Given the description of an element on the screen output the (x, y) to click on. 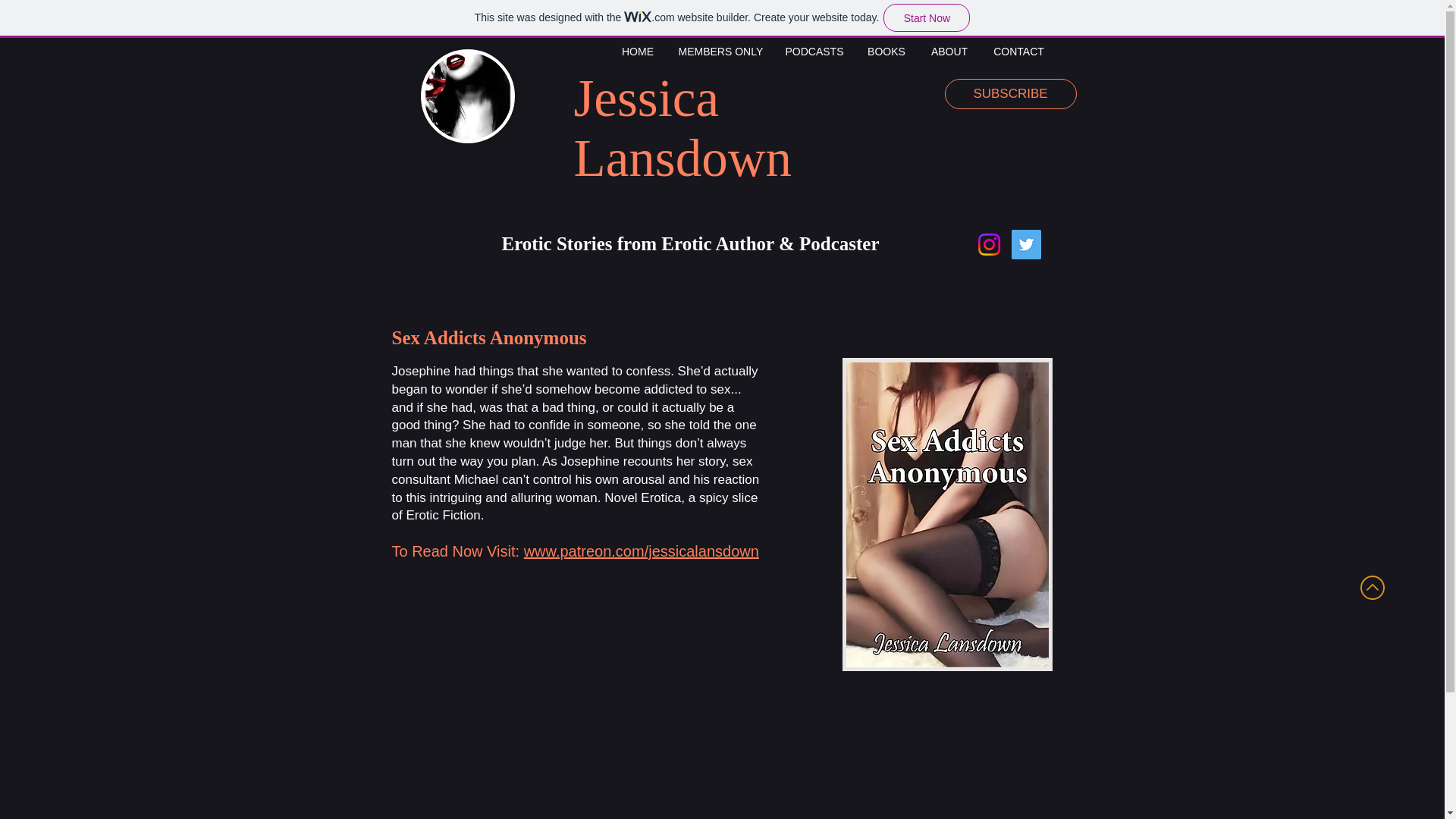
ABOUT (948, 51)
PODCASTS (813, 51)
SUBSCRIBE (1010, 93)
HOME (637, 51)
MEMBERS ONLY (720, 51)
BOOKS (887, 51)
CONTACT (1019, 51)
